Given the description of an element on the screen output the (x, y) to click on. 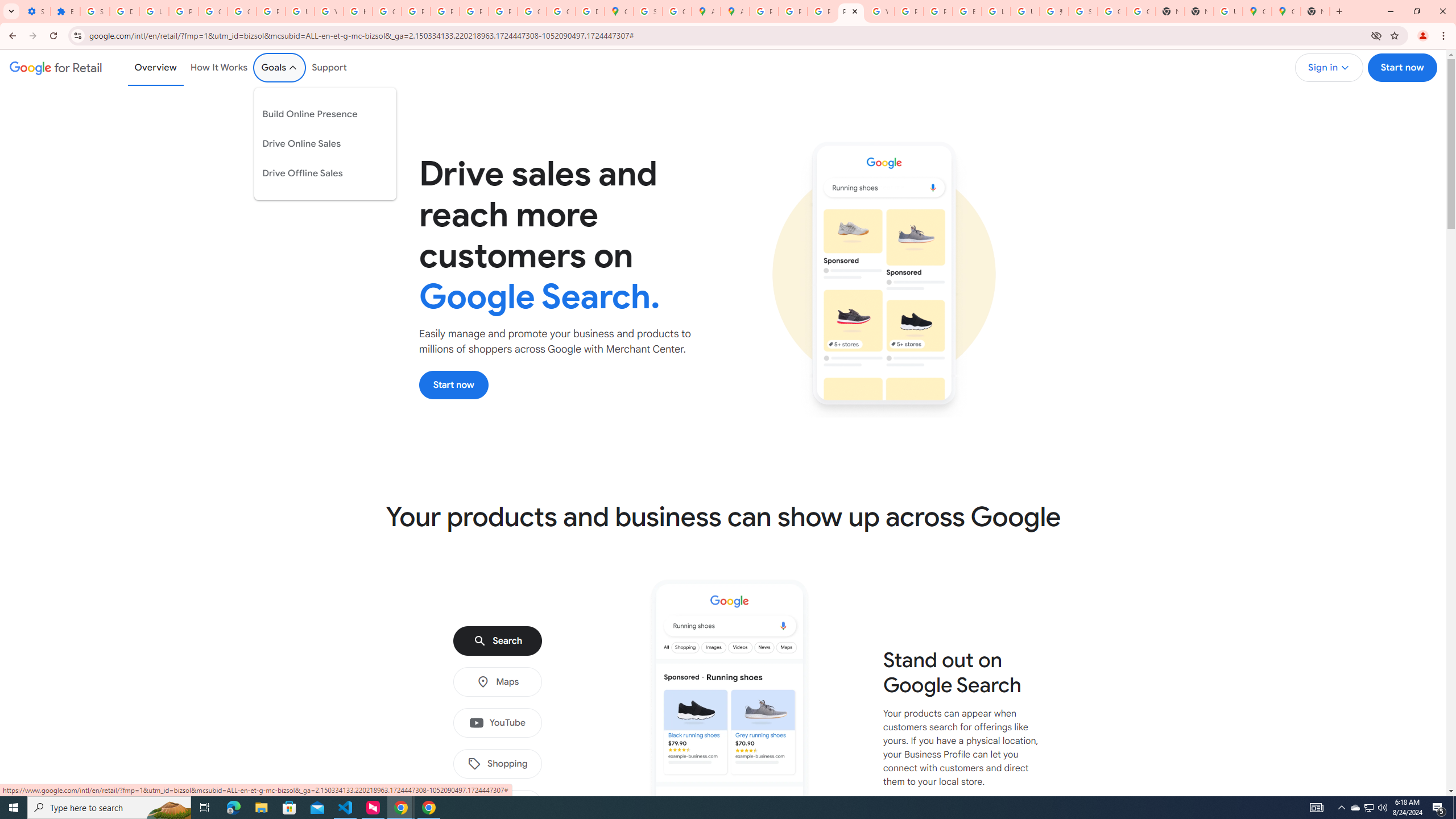
Support (328, 67)
Privacy Help Center - Policies Help (821, 11)
Google for Retail (55, 67)
Settings - On startup (35, 11)
